Given the description of an element on the screen output the (x, y) to click on. 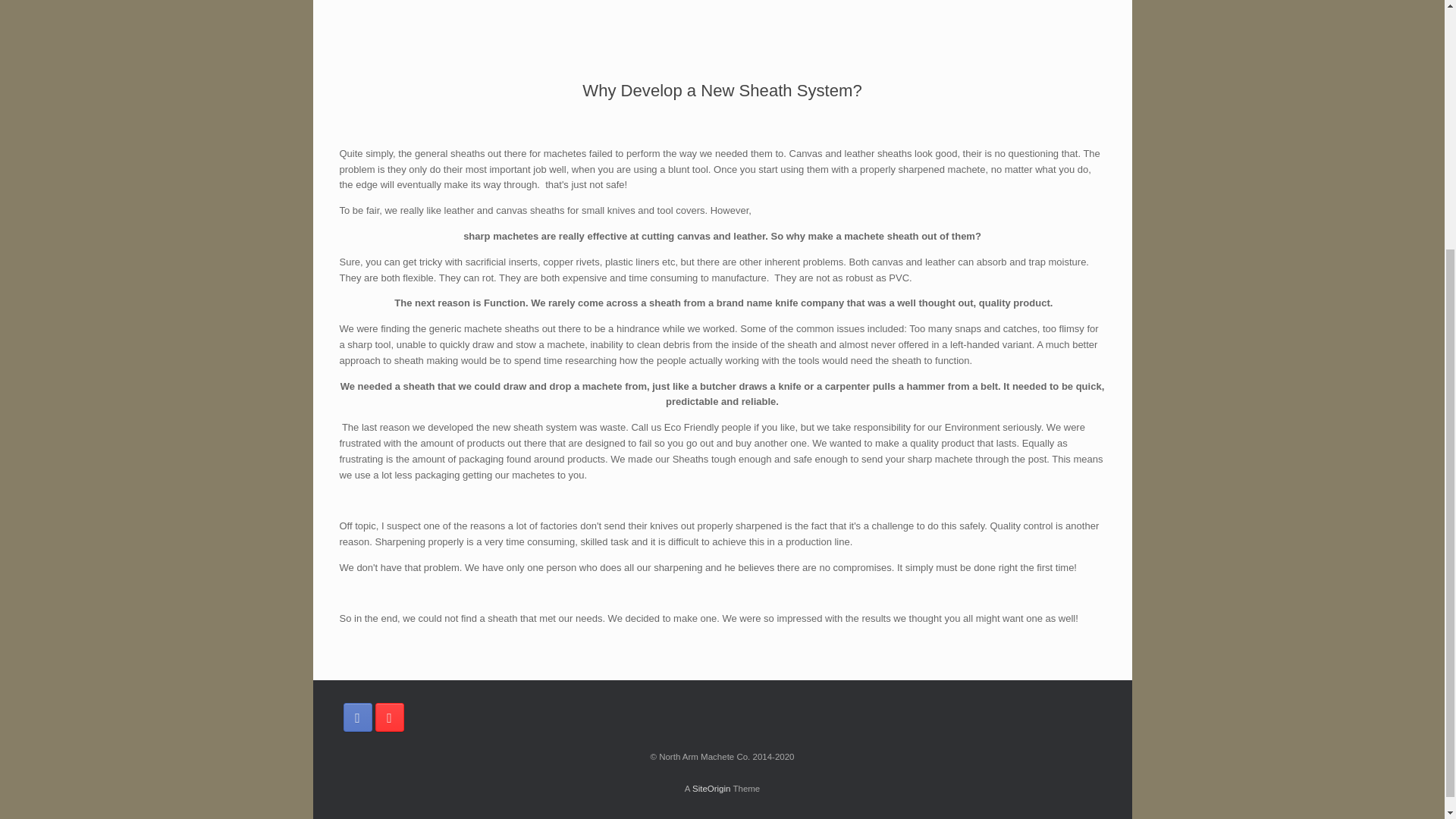
North Arm Machete Co. Facebook (356, 717)
North Arm Machete Co. YouTube (388, 717)
SiteOrigin (711, 788)
